Given the description of an element on the screen output the (x, y) to click on. 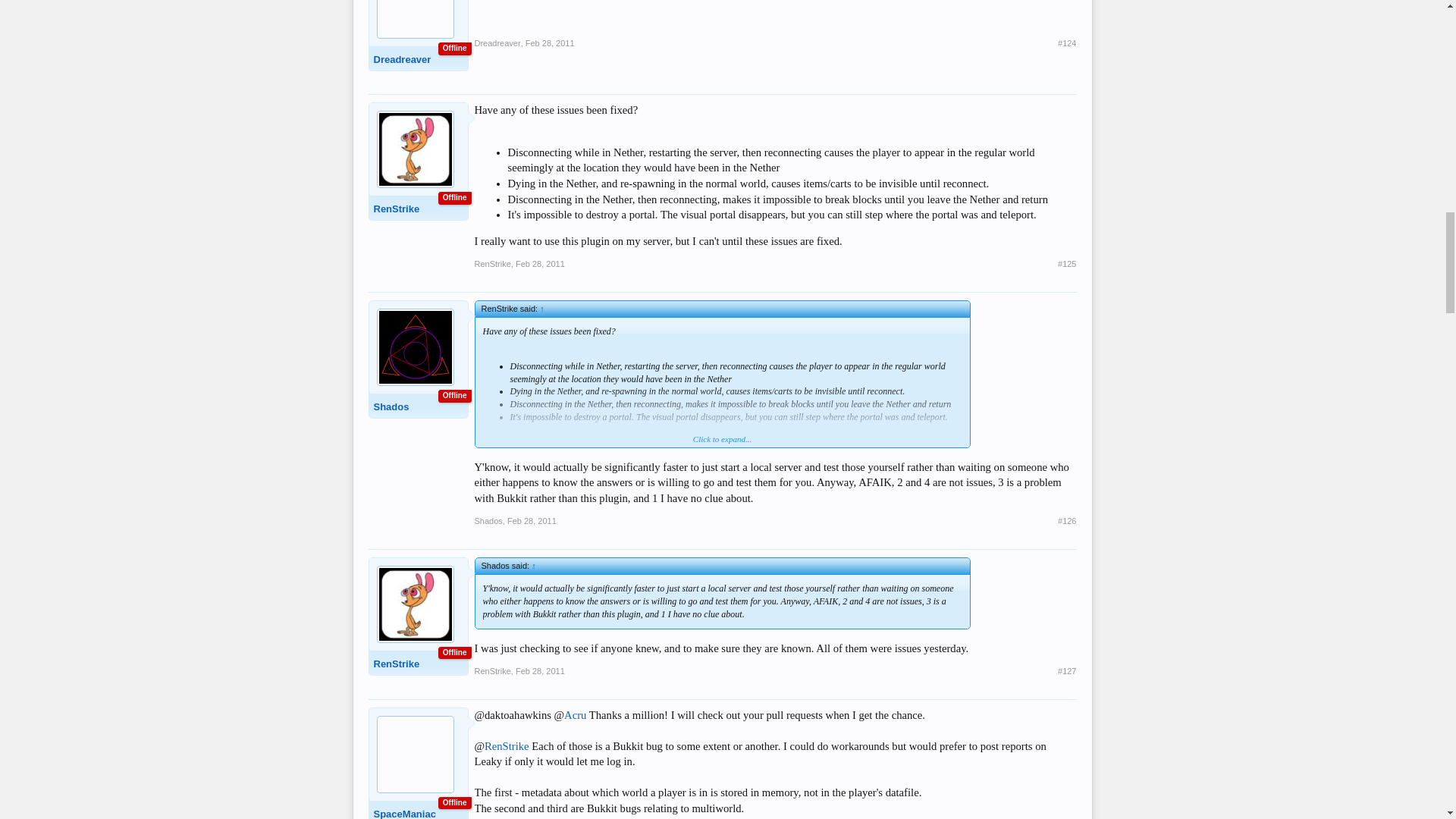
Permalink (539, 263)
Permalink (550, 42)
Permalink (1066, 42)
